Given the description of an element on the screen output the (x, y) to click on. 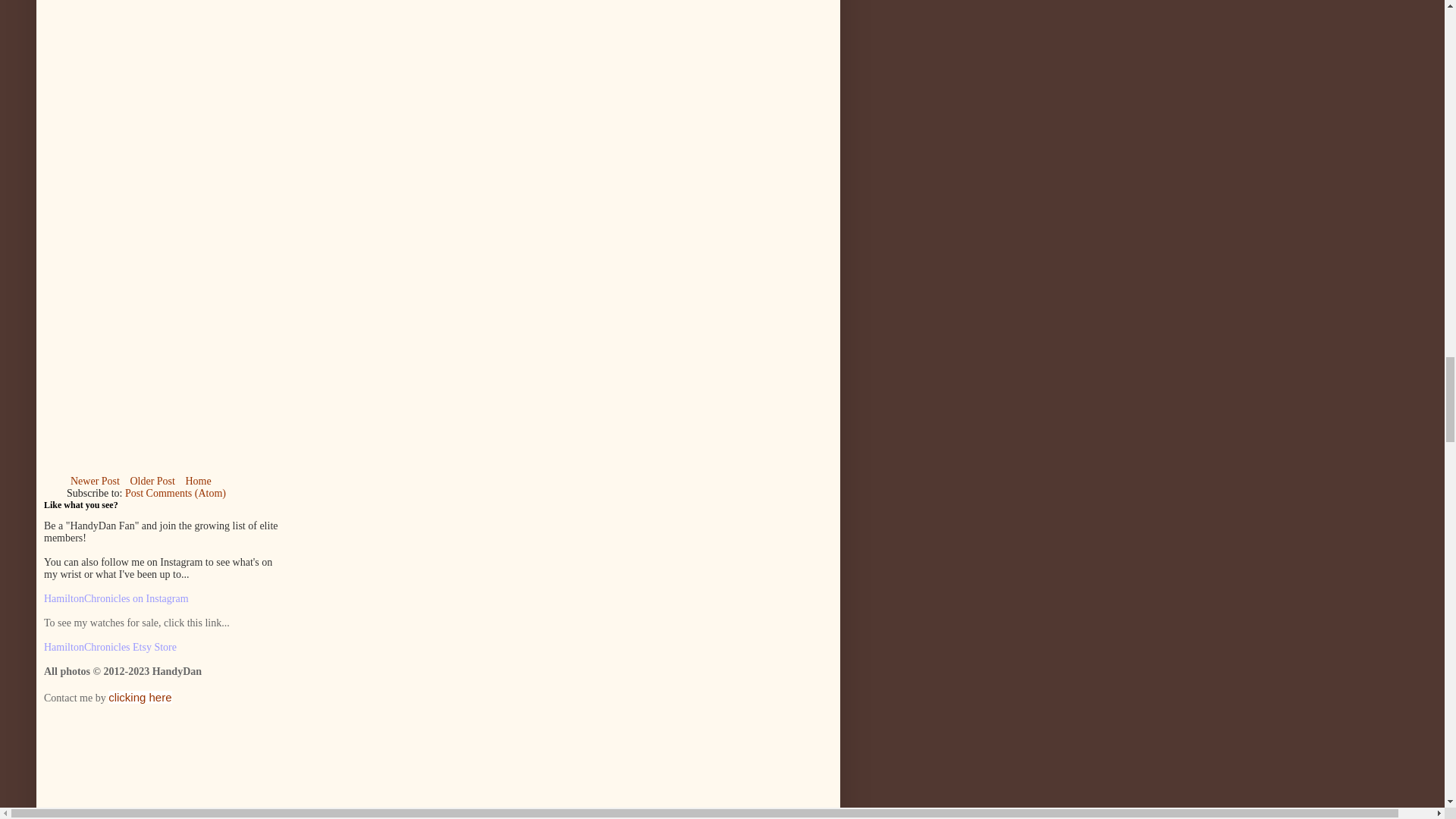
Newer Post (94, 480)
Older Post (152, 480)
